Given the description of an element on the screen output the (x, y) to click on. 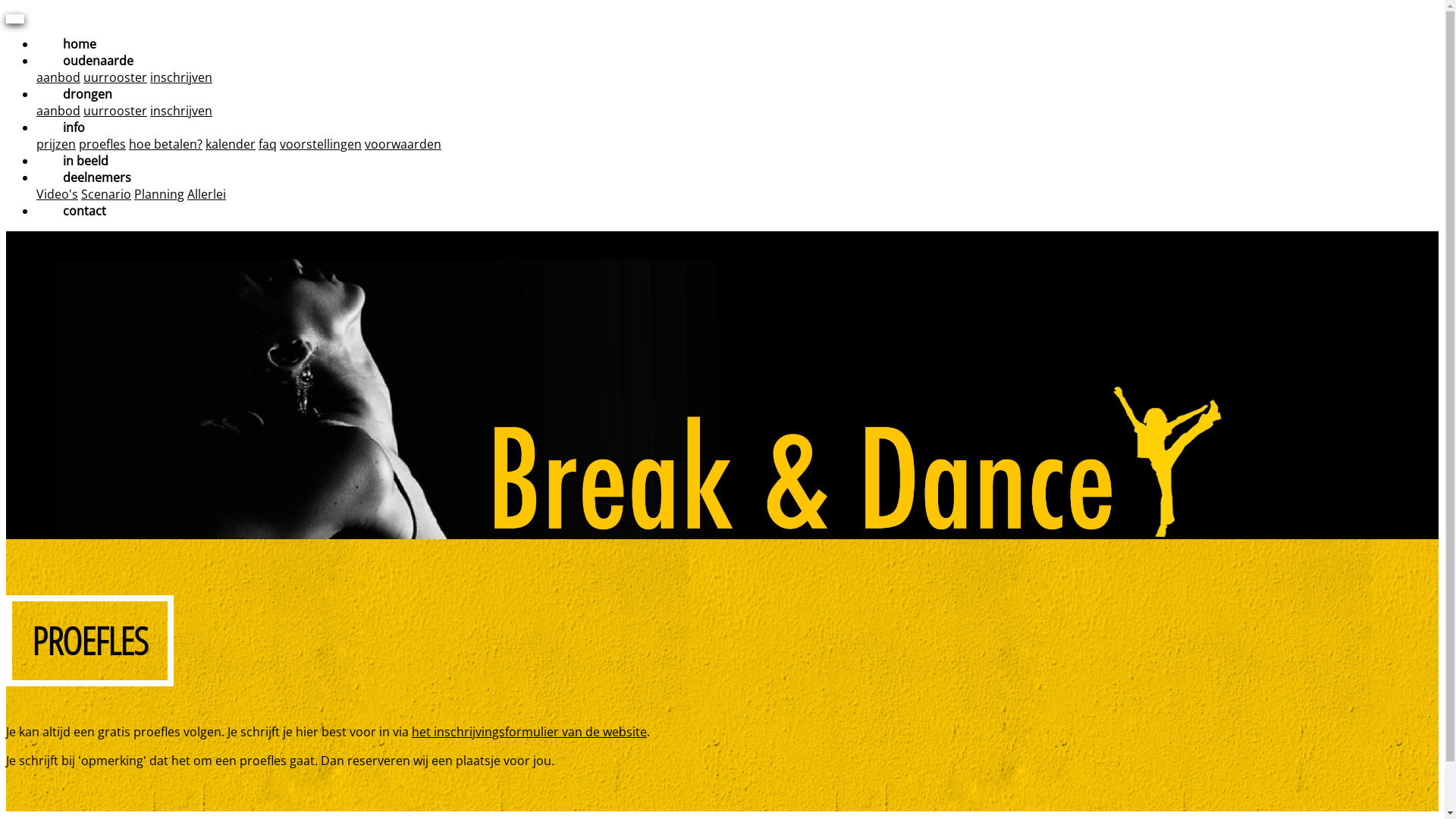
inschrijven Element type: text (181, 77)
faq Element type: text (267, 143)
drongen Element type: text (87, 93)
prijzen Element type: text (55, 143)
Scenario Element type: text (106, 193)
info Element type: text (73, 126)
inschrijven Element type: text (181, 110)
home Element type: text (79, 43)
voorwaarden Element type: text (402, 143)
hoe betalen? Element type: text (165, 143)
het inschrijvingsformulier van de website Element type: text (528, 731)
uurrooster Element type: text (115, 110)
proefles Element type: text (101, 143)
deelnemers Element type: text (96, 177)
aanbod Element type: text (58, 110)
in beeld Element type: text (85, 160)
oudenaarde Element type: text (98, 60)
Planning Element type: text (159, 193)
Allerlei Element type: text (206, 193)
contact Element type: text (84, 210)
Video's Element type: text (57, 193)
voorstellingen Element type: text (320, 143)
kalender Element type: text (230, 143)
uurrooster Element type: text (115, 77)
aanbod Element type: text (58, 77)
